Given the description of an element on the screen output the (x, y) to click on. 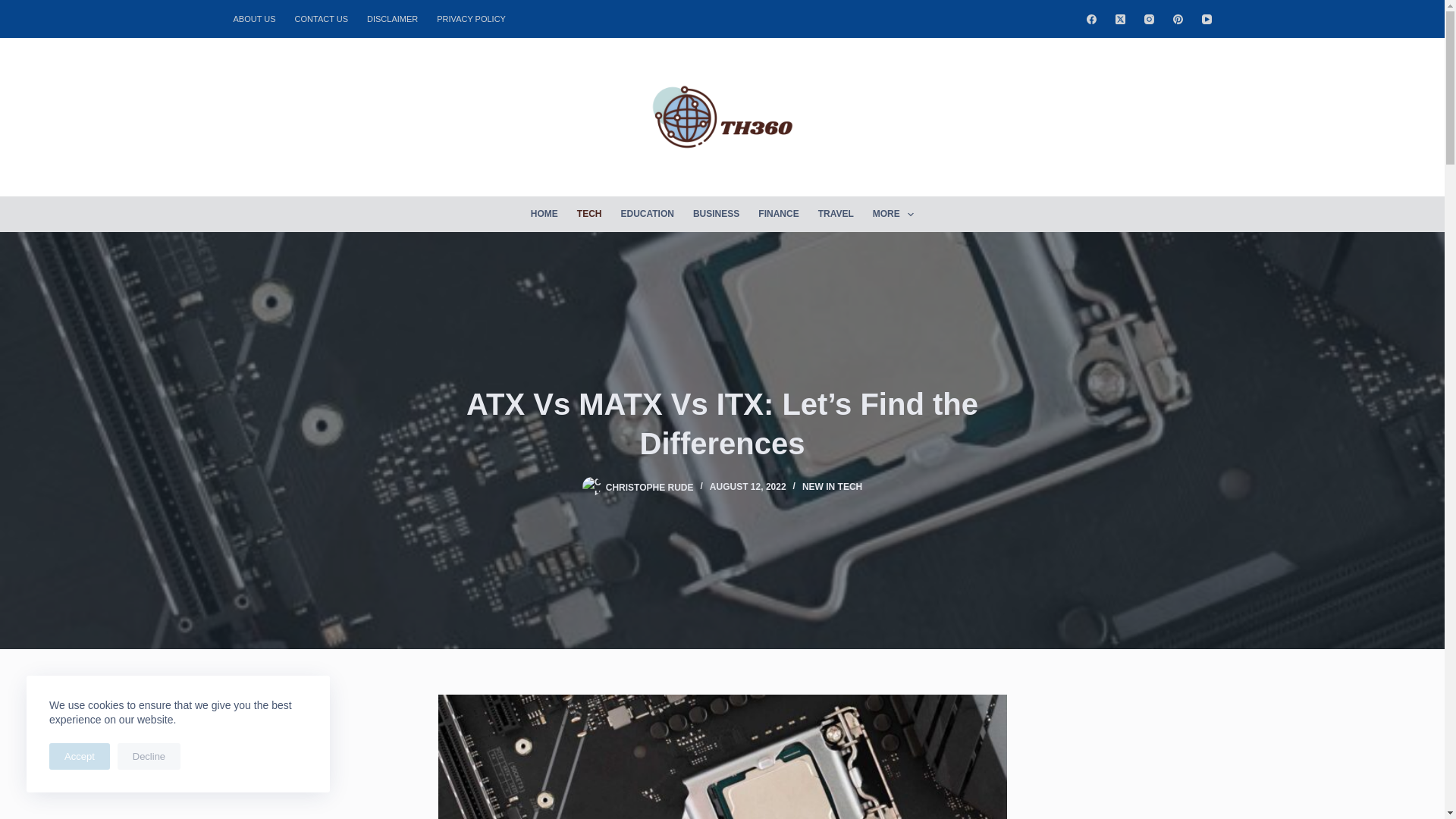
Decline (148, 755)
CONTACT US (321, 18)
EDUCATION (646, 213)
Posts by Christophe Rude (649, 486)
Skip to content (15, 7)
TECH (589, 213)
TRAVEL (835, 213)
MORE (893, 213)
ABOUT US (258, 18)
PRIVACY POLICY (471, 18)
BUSINESS (715, 213)
Accept (79, 755)
HOME (544, 213)
DISCLAIMER (393, 18)
FINANCE (778, 213)
